Given the description of an element on the screen output the (x, y) to click on. 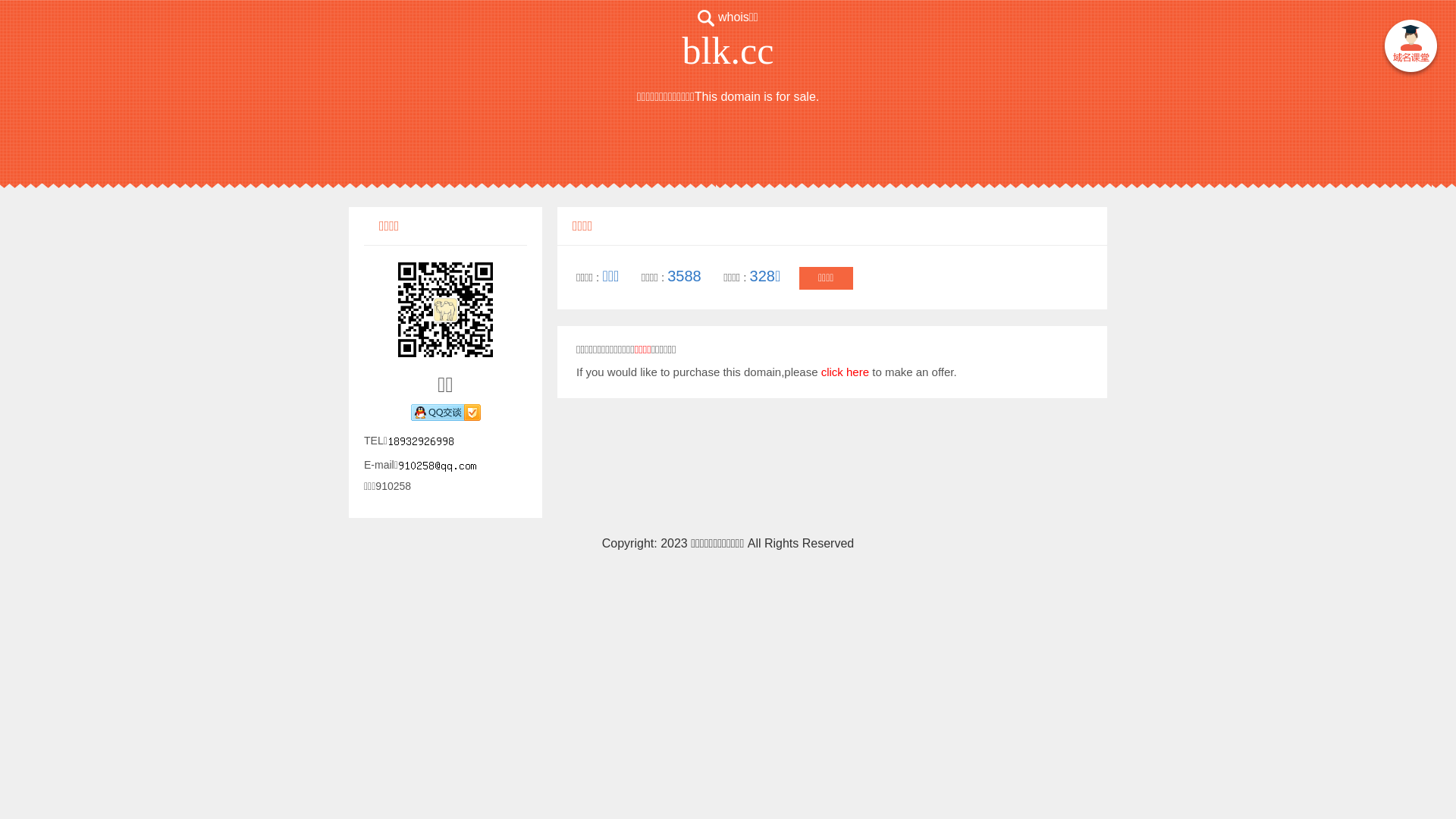
  Element type: text (1410, 48)
click here Element type: text (845, 371)
